Given the description of an element on the screen output the (x, y) to click on. 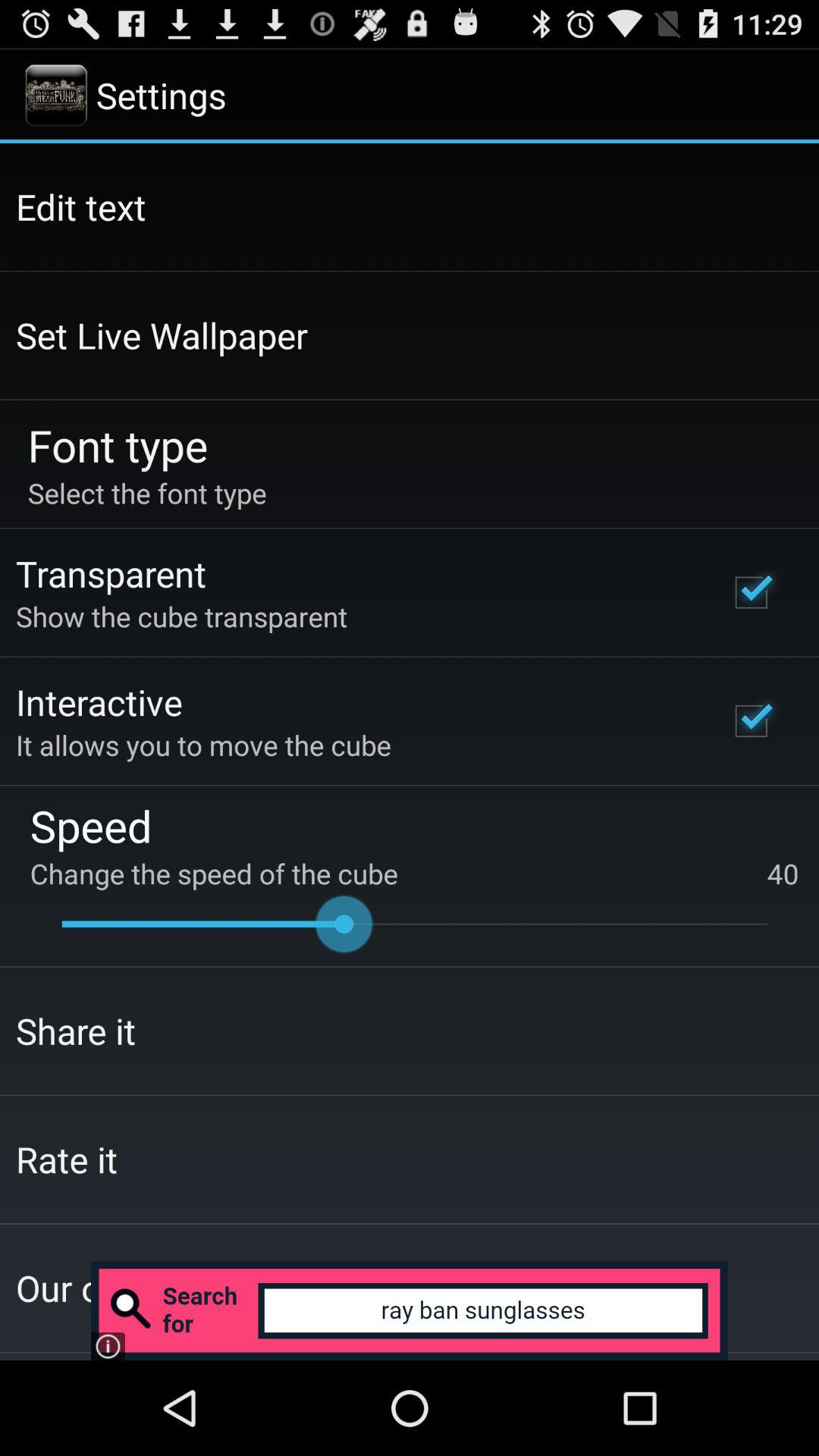
tap icon below the speed (414, 873)
